Given the description of an element on the screen output the (x, y) to click on. 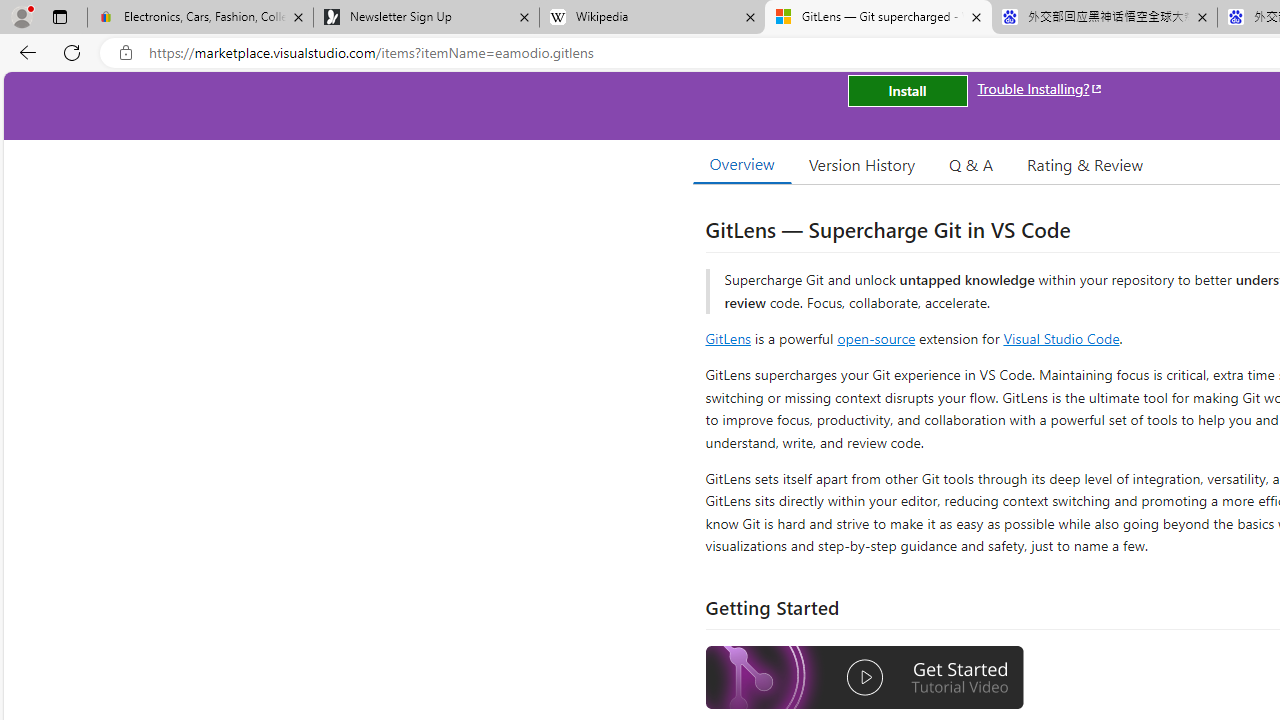
Q & A (971, 164)
Version History (862, 164)
Overview (742, 164)
Watch the GitLens Getting Started video (865, 678)
Wikipedia (652, 17)
Visual Studio Code (1061, 337)
Newsletter Sign Up (425, 17)
Watch the GitLens Getting Started video (865, 679)
